Given the description of an element on the screen output the (x, y) to click on. 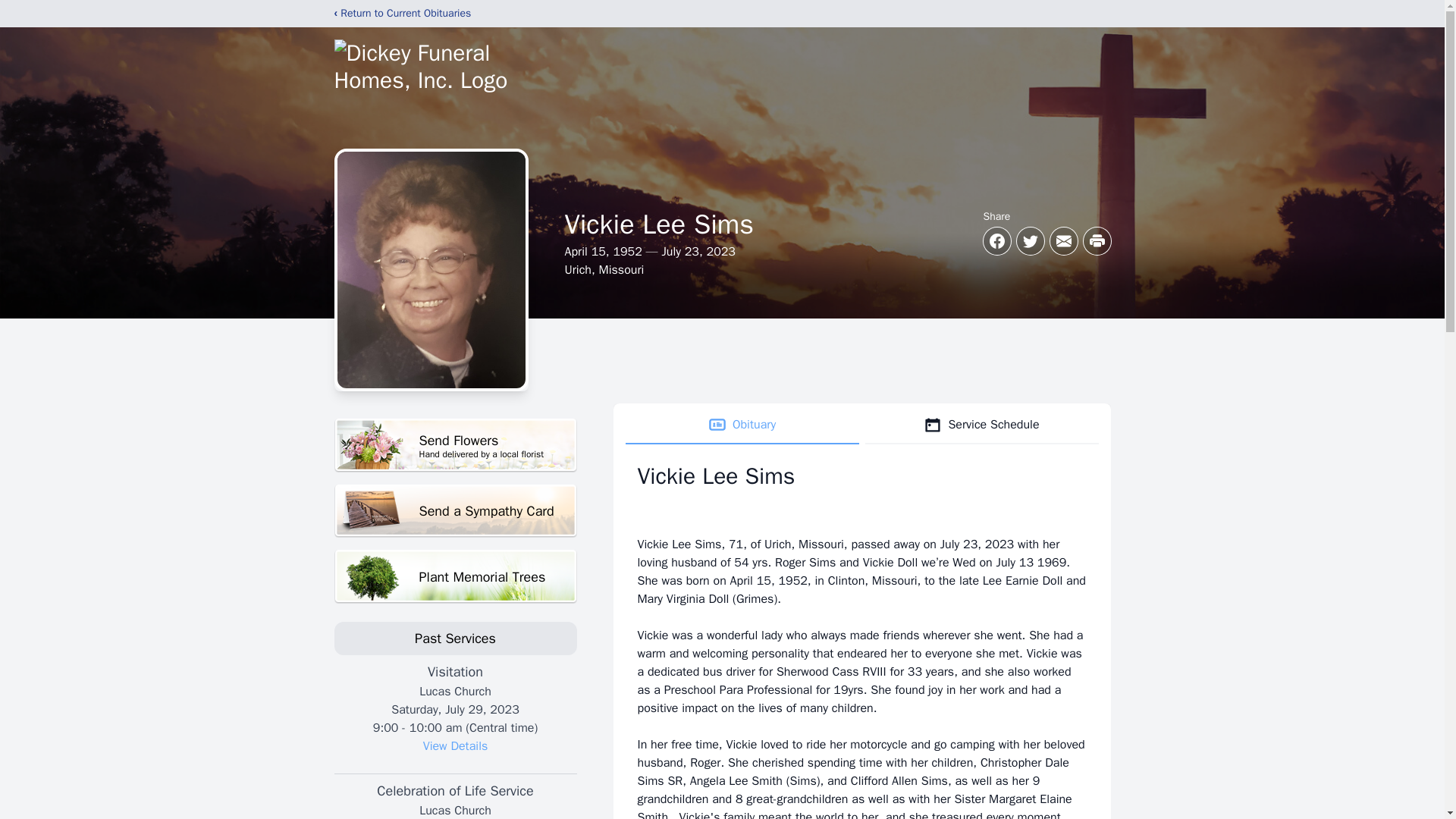
Plant Memorial Trees (454, 576)
Send a Sympathy Card (454, 511)
View Details (454, 445)
Obituary (455, 745)
Service Schedule (741, 425)
